Given the description of an element on the screen output the (x, y) to click on. 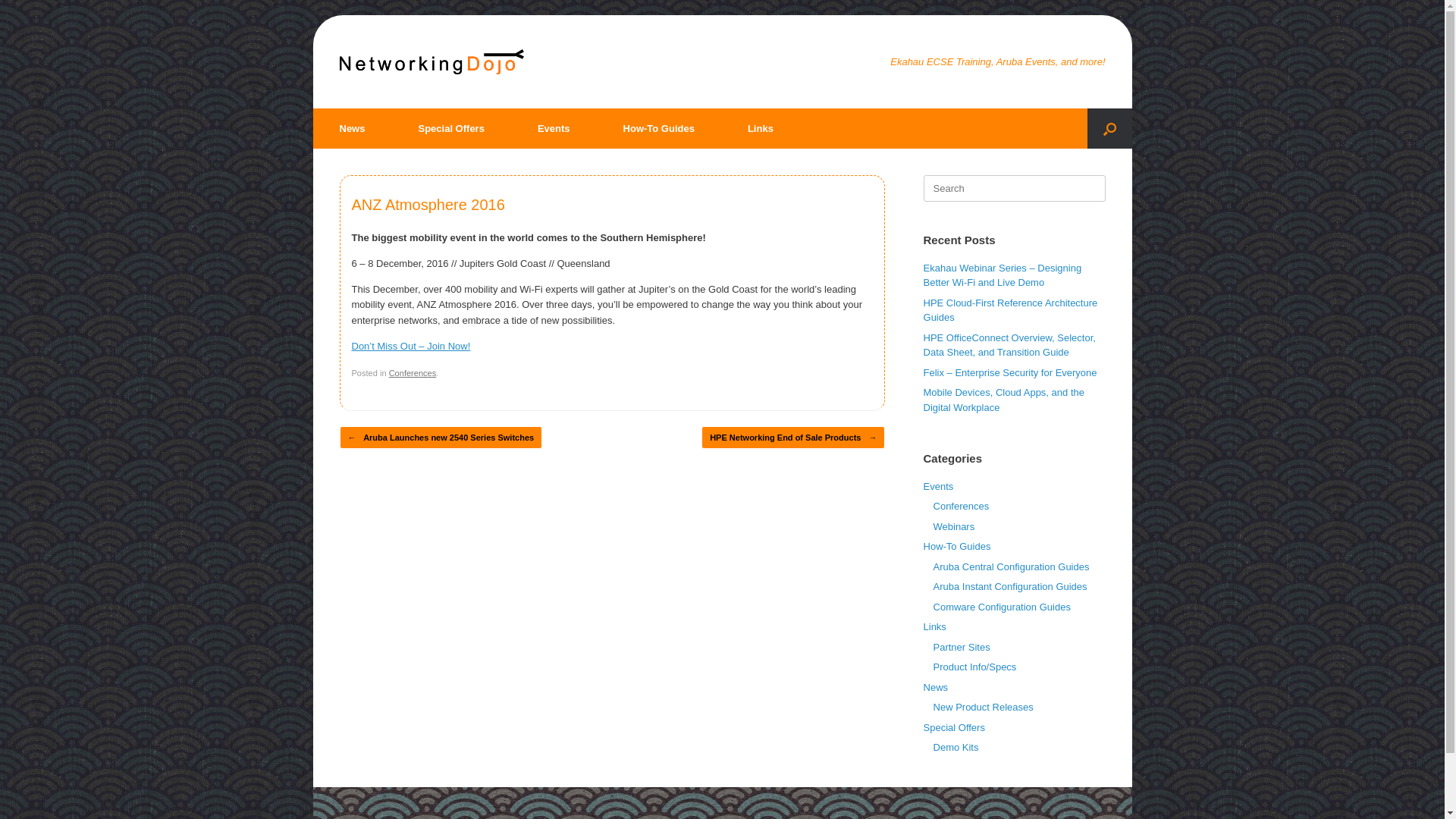
Aruba Central Configuration Guides Element type: text (1011, 566)
Special Offers Element type: text (954, 727)
Product Info/Specs Element type: text (974, 666)
Events Element type: text (553, 128)
New Product Releases Element type: text (983, 706)
Skip to content Element type: text (312, 15)
How-To Guides Element type: text (957, 546)
Aruba Instant Configuration Guides Element type: text (1010, 586)
Demo Kits Element type: text (956, 747)
Links Element type: text (934, 626)
Links Element type: text (760, 128)
News Element type: text (351, 128)
Mobile Devices, Cloud Apps, and the Digital Workplace Element type: text (1003, 399)
Partner Sites Element type: text (961, 646)
Conferences Element type: text (961, 505)
How-To Guides Element type: text (658, 128)
Special Offers Element type: text (450, 128)
News Element type: text (935, 686)
Conferences Element type: text (412, 372)
Events Element type: text (938, 486)
Webinars Element type: text (954, 525)
Comware Configuration Guides Element type: text (1001, 605)
HPE Cloud-First Reference Architecture Guides Element type: text (1010, 310)
Ekahau ECSE Training, Aruba Events, Wi-Fi and more! Element type: hover (431, 61)
